Given the description of an element on the screen output the (x, y) to click on. 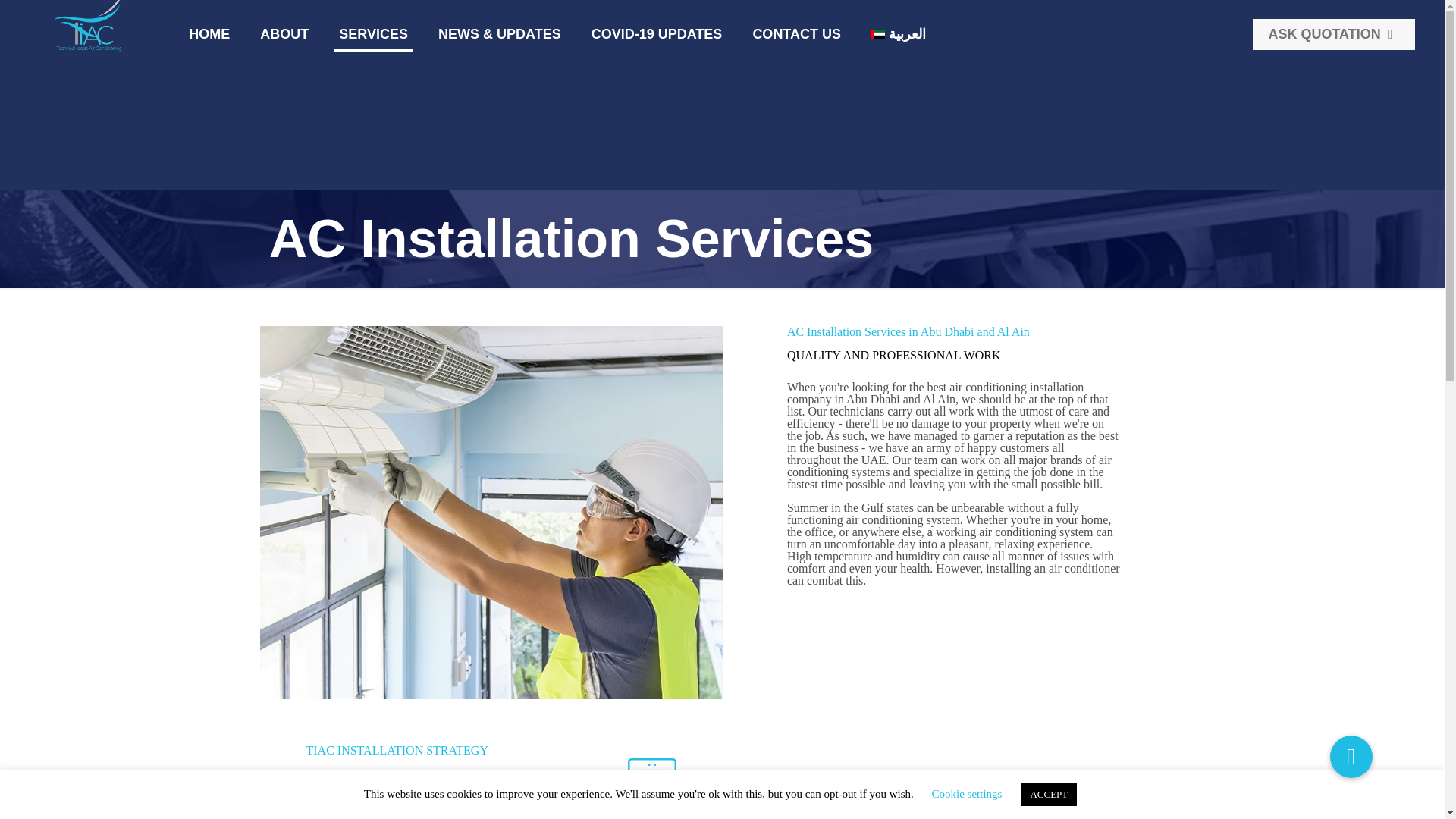
ACCEPT (1048, 793)
Cookie settings (967, 793)
Technical Ideas Air Conditioning (90, 26)
COVID-19 UPDATES (657, 33)
CONTACT US (796, 33)
ABOUT (283, 33)
SERVICES (373, 33)
ASK QUOTATION (1333, 33)
HOME (208, 33)
